Given the description of an element on the screen output the (x, y) to click on. 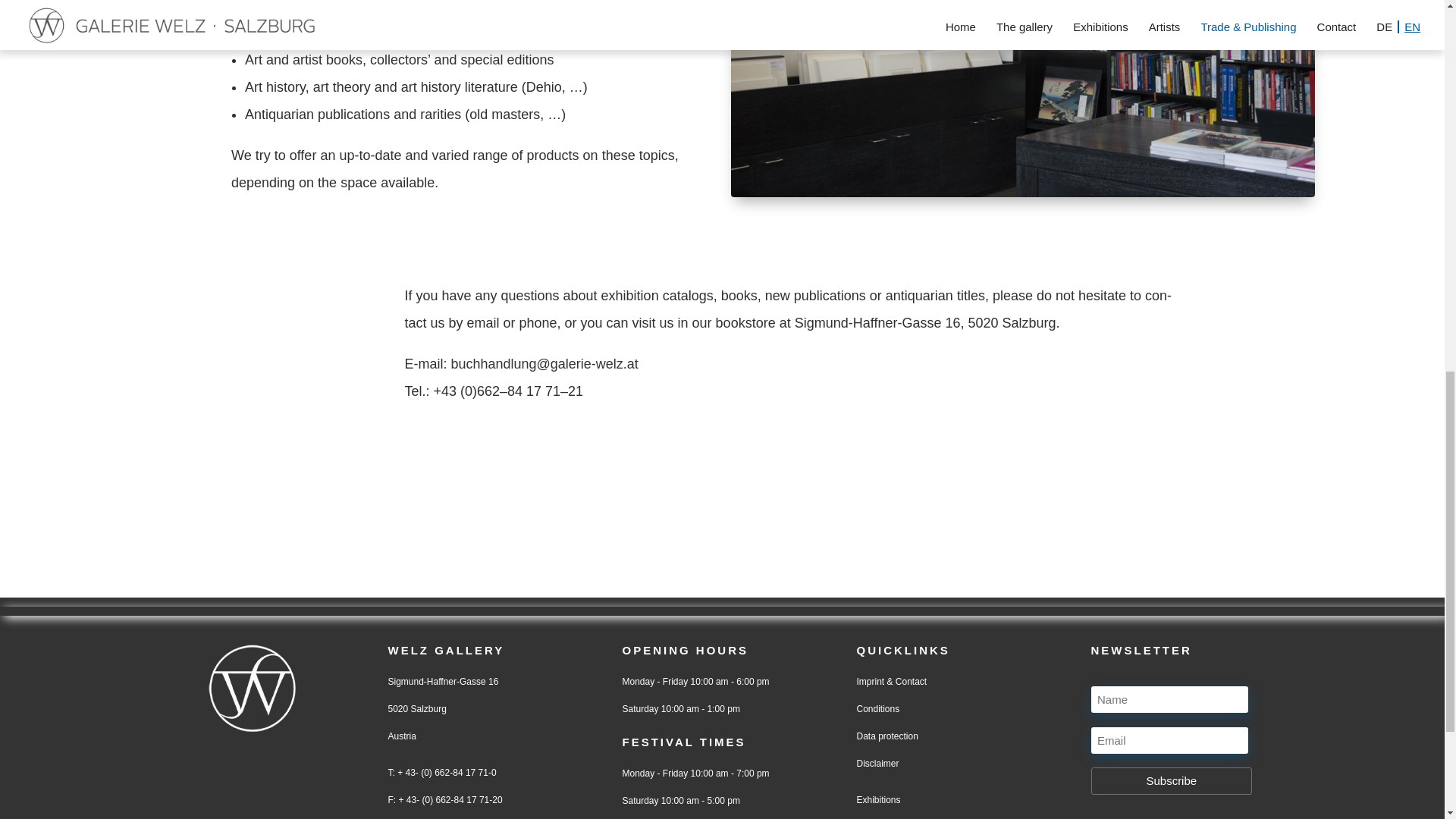
Imprint of Galerie Welz (892, 681)
Phone contact gallery (445, 772)
Terms of Service (878, 708)
Data protection of the Galerie Welz (887, 736)
Gallery Welz fax connection (449, 799)
Disclaimer from Galerie Welz (878, 763)
